Given the description of an element on the screen output the (x, y) to click on. 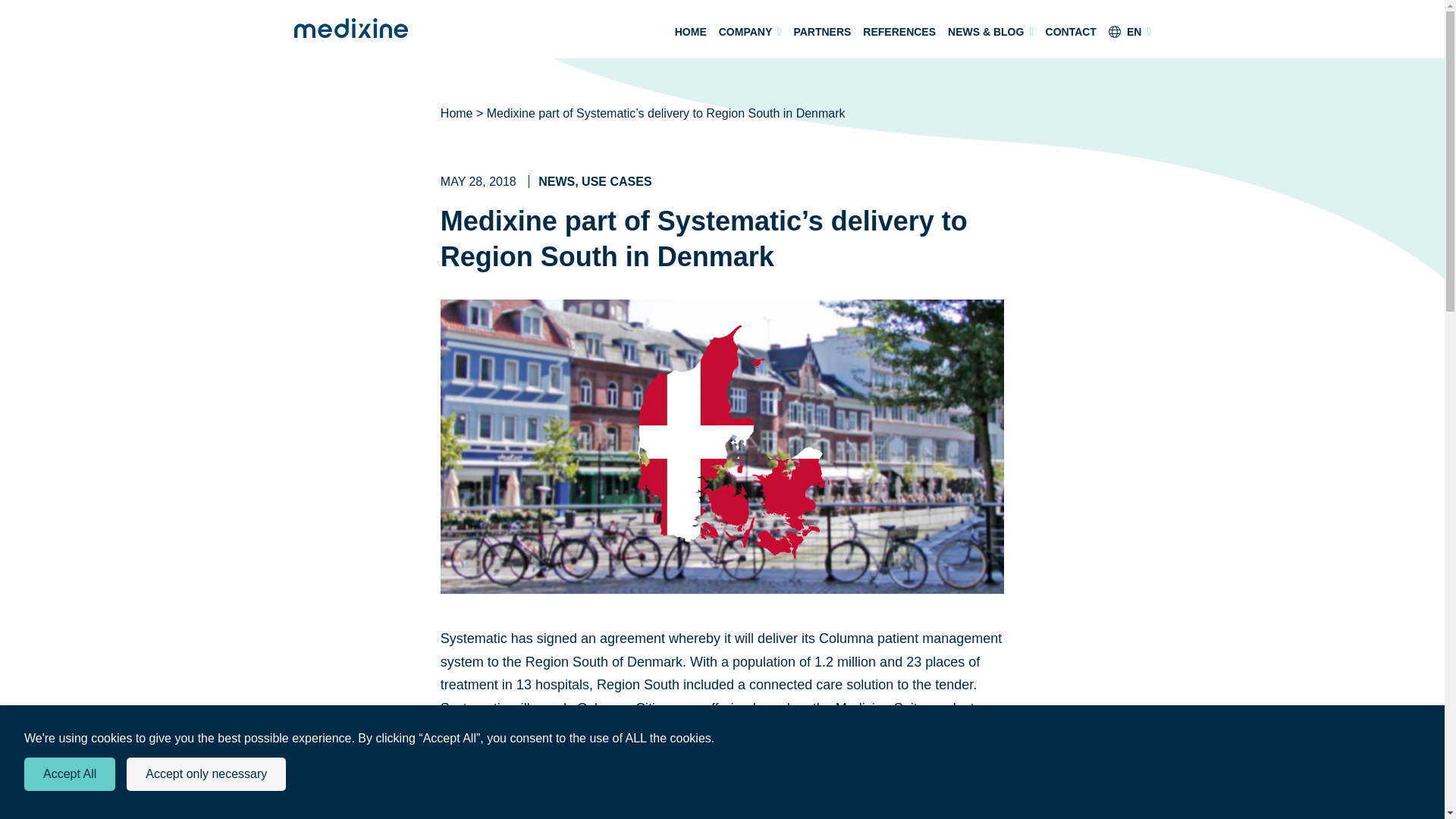
USE CASES (615, 181)
Change language (1129, 32)
Home (457, 113)
Avaa Use cases arkisto (615, 181)
EN (1129, 32)
REFERENCES (899, 32)
Avaa News arkisto (556, 181)
CONTACT (1070, 32)
NEWS (556, 181)
PARTNERS (821, 32)
COMPANY (750, 32)
HOME (690, 32)
